Given the description of an element on the screen output the (x, y) to click on. 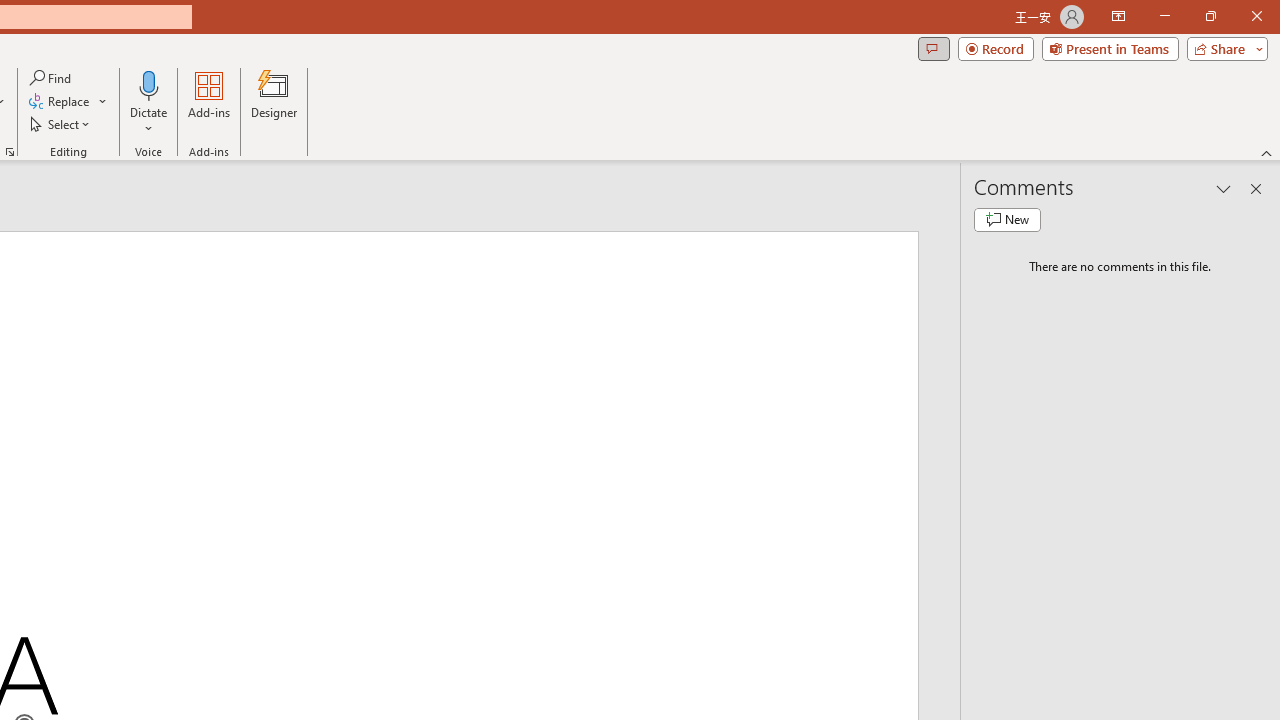
Select (61, 124)
Format Object... (9, 151)
